Given the description of an element on the screen output the (x, y) to click on. 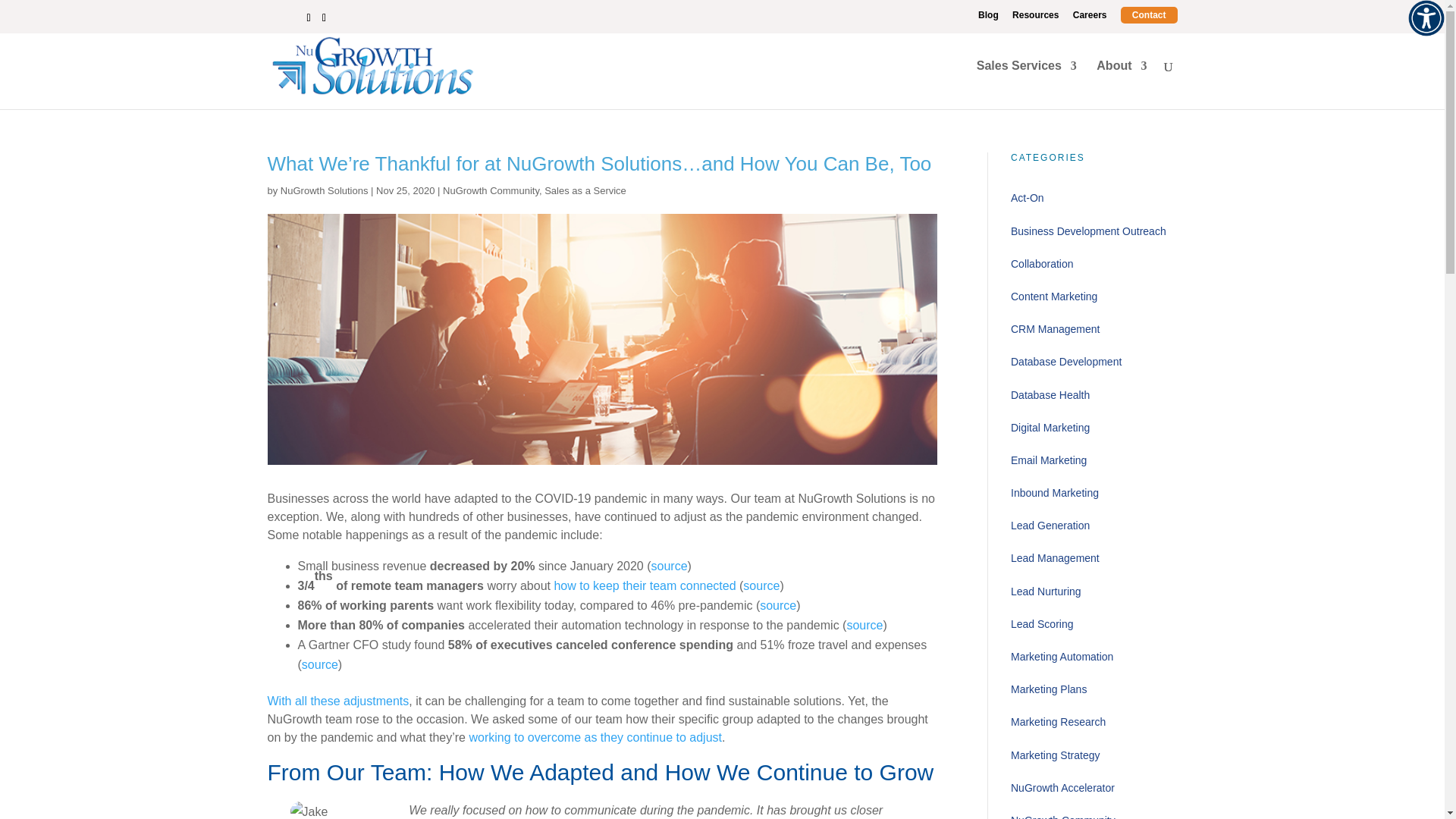
source (668, 565)
Resources (1034, 18)
source (863, 625)
source (319, 664)
With all these adjustments (337, 700)
source (778, 604)
About (1121, 84)
Careers (1089, 18)
Database Development (1093, 361)
Sales as a Service (585, 190)
